Given the description of an element on the screen output the (x, y) to click on. 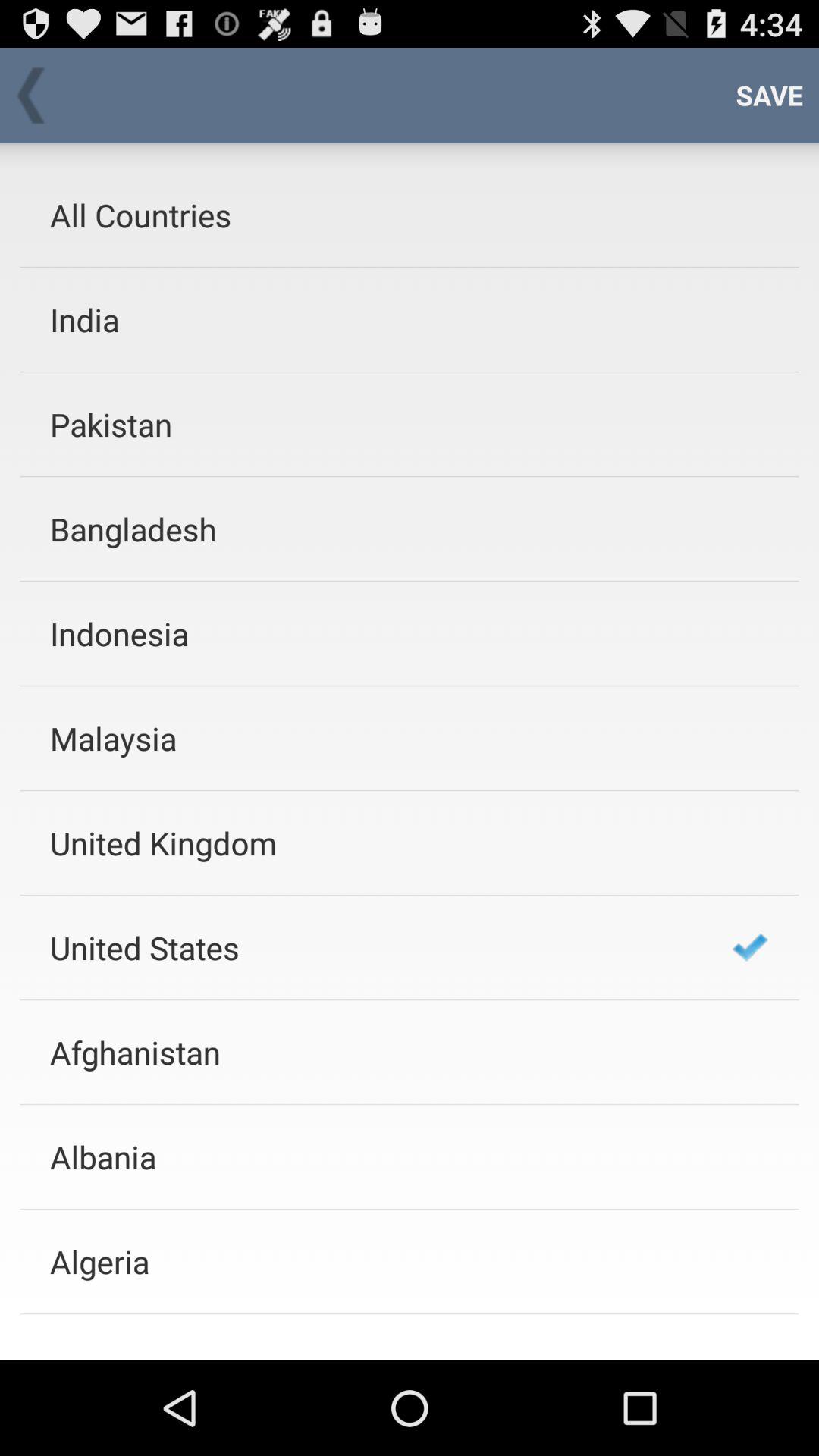
jump to united kingdom item (371, 842)
